Given the description of an element on the screen output the (x, y) to click on. 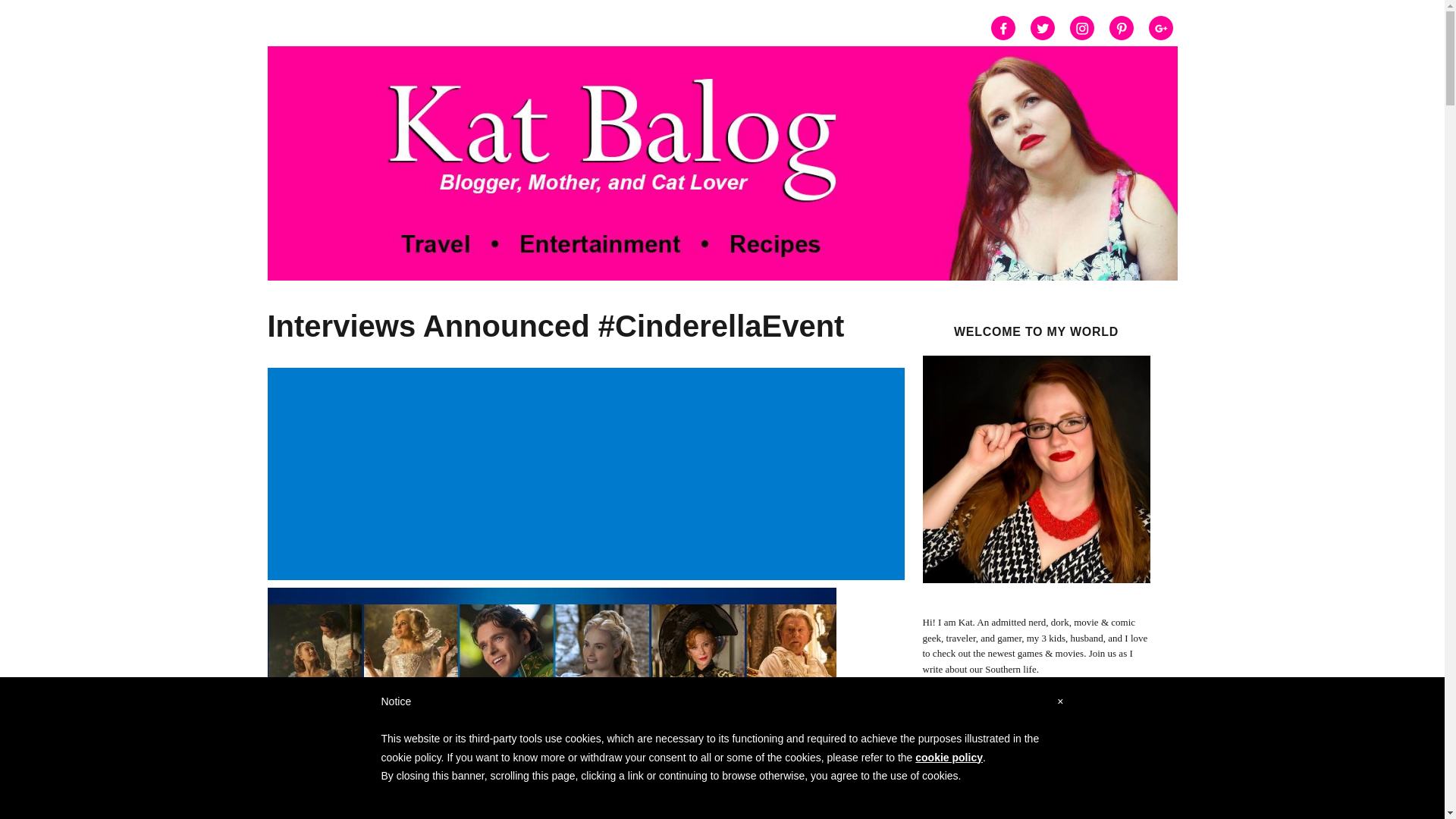
Advertisement (1038, 801)
